Given the description of an element on the screen output the (x, y) to click on. 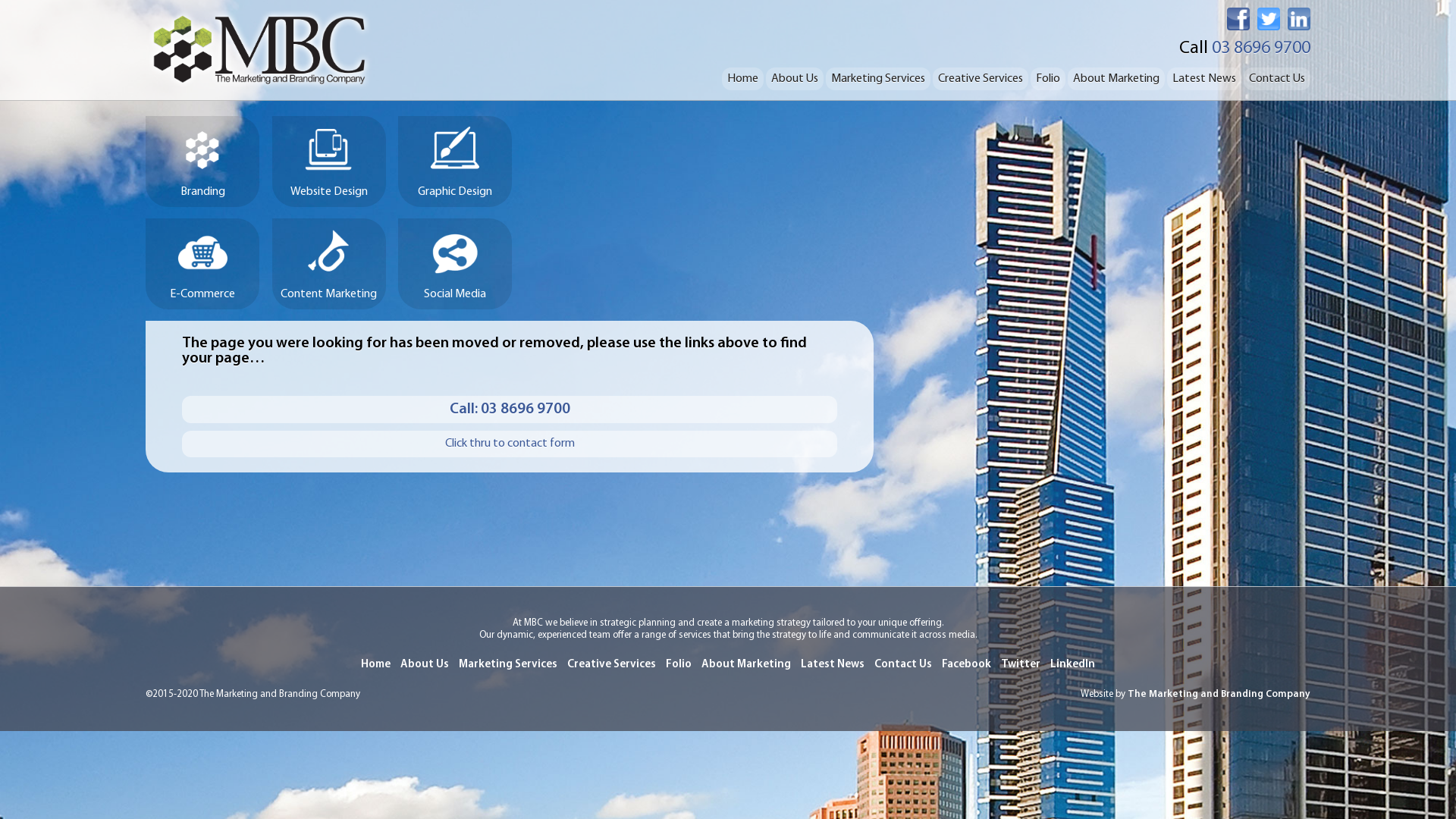
Home Element type: text (742, 78)
About Us Element type: text (794, 78)
About Marketing Element type: text (745, 664)
Latest News Element type: text (832, 664)
LinkedIn Element type: text (1072, 664)
Content Marketing Element type: text (328, 263)
Folio Element type: text (678, 664)
Click thru to contact form Element type: text (509, 443)
Facebook Element type: text (966, 664)
E-Commerce Element type: text (202, 263)
Marketing Services Element type: text (877, 78)
Branding Element type: text (202, 161)
Graphic Design Element type: text (454, 161)
Folio Element type: text (1047, 78)
About Us Element type: text (424, 664)
Latest News Element type: text (1204, 78)
Contact Us Element type: text (902, 664)
Twitter Element type: text (1020, 664)
About Marketing Element type: text (1115, 78)
The Marketing and Branding Company Element type: text (1218, 694)
03 8696 9700 Element type: text (1260, 48)
Contact Us Element type: text (1276, 78)
Website Design Element type: text (328, 161)
Creative Services Element type: text (611, 664)
Social Media Element type: text (454, 263)
Home Element type: text (375, 664)
Marketing Services Element type: text (508, 664)
Call: 03 8696 9700 Element type: text (509, 409)
Creative Services Element type: text (980, 78)
